Given the description of an element on the screen output the (x, y) to click on. 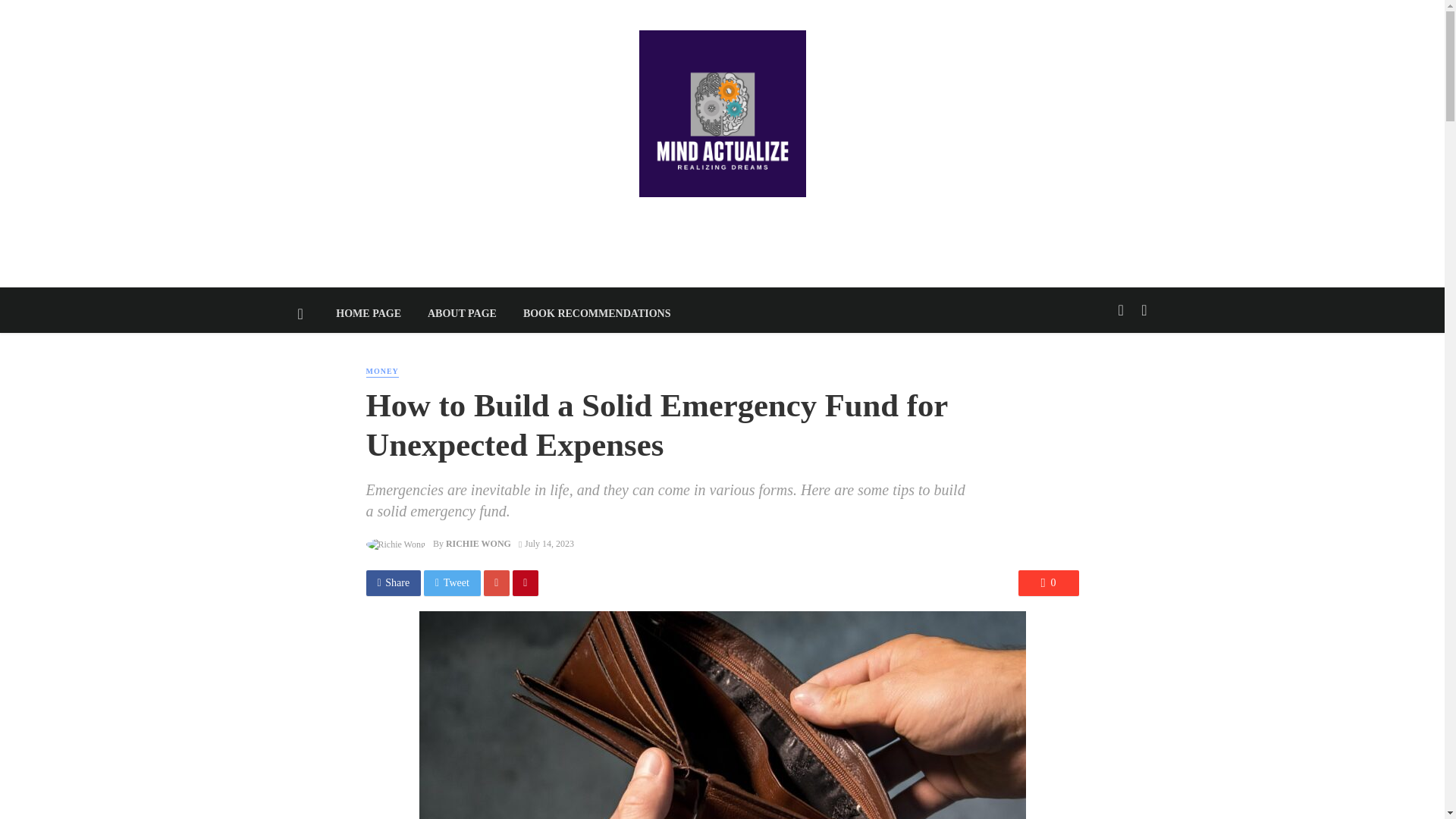
0 (1047, 583)
HOME PAGE (368, 313)
Share (392, 583)
0 Comments (1047, 583)
Share on Twitter (451, 583)
July 14, 2023 at 12:00 pm (545, 543)
Share on Pinterest (525, 583)
RICHIE WONG (478, 543)
ABOUT PAGE (461, 313)
BOOK RECOMMENDATIONS (596, 313)
